Given the description of an element on the screen output the (x, y) to click on. 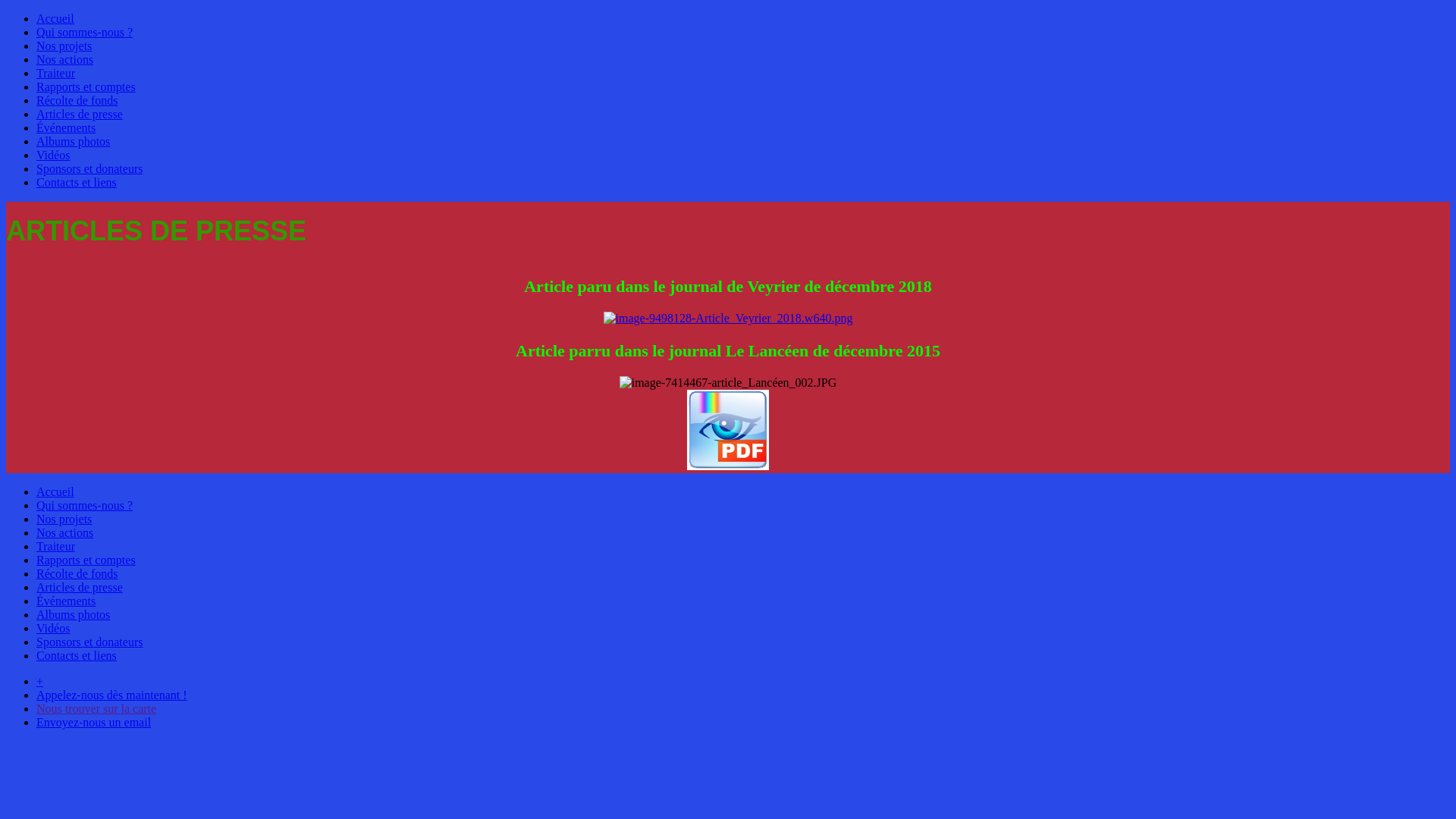
Nos projets Element type: text (63, 45)
Rapports et comptes Element type: text (85, 559)
Qui sommes-nous ? Element type: text (84, 504)
Albums photos Element type: text (72, 614)
Qui sommes-nous ? Element type: text (84, 31)
Articles de presse Element type: text (79, 586)
+ Element type: text (39, 680)
Rapports et comptes Element type: text (85, 86)
Accueil Element type: text (55, 18)
Albums photos Element type: text (72, 140)
Contacts et liens Element type: text (76, 181)
Nos actions Element type: text (64, 59)
Sponsors et donateurs Element type: text (89, 168)
Articles de presse Element type: text (79, 113)
Envoyez-nous un email Element type: text (93, 721)
Sponsors et donateurs Element type: text (89, 641)
Traiteur Element type: text (55, 545)
Nous trouver sur la carte Element type: text (96, 708)
Traiteur Element type: text (55, 72)
Accueil Element type: text (55, 491)
Contacts et liens Element type: text (76, 655)
Nos actions Element type: text (64, 532)
Nos projets Element type: text (63, 518)
